Given the description of an element on the screen output the (x, y) to click on. 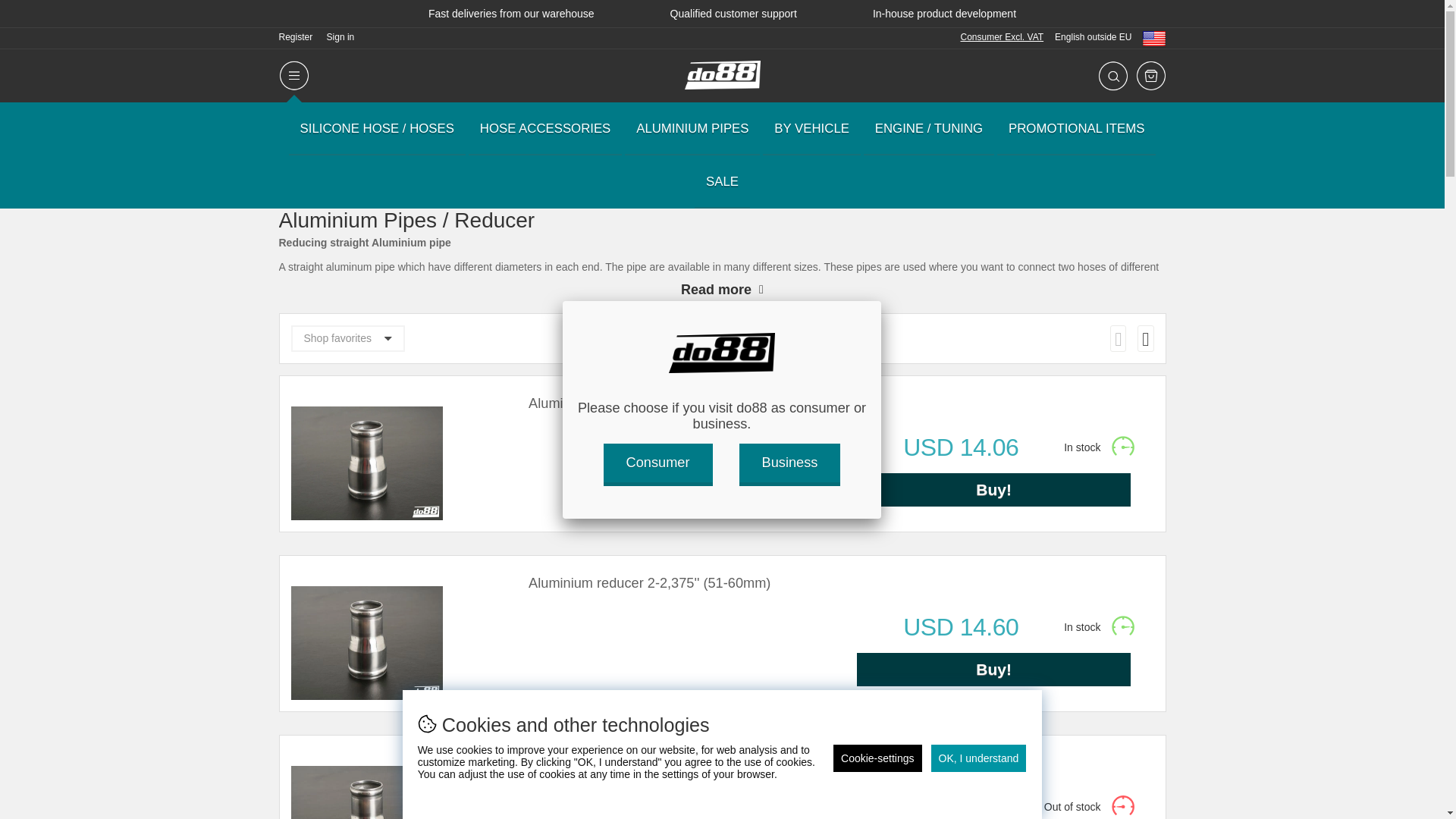
In-house product development (944, 13)
Sign in (340, 36)
Register (296, 36)
In-house product development (944, 13)
